Given the description of an element on the screen output the (x, y) to click on. 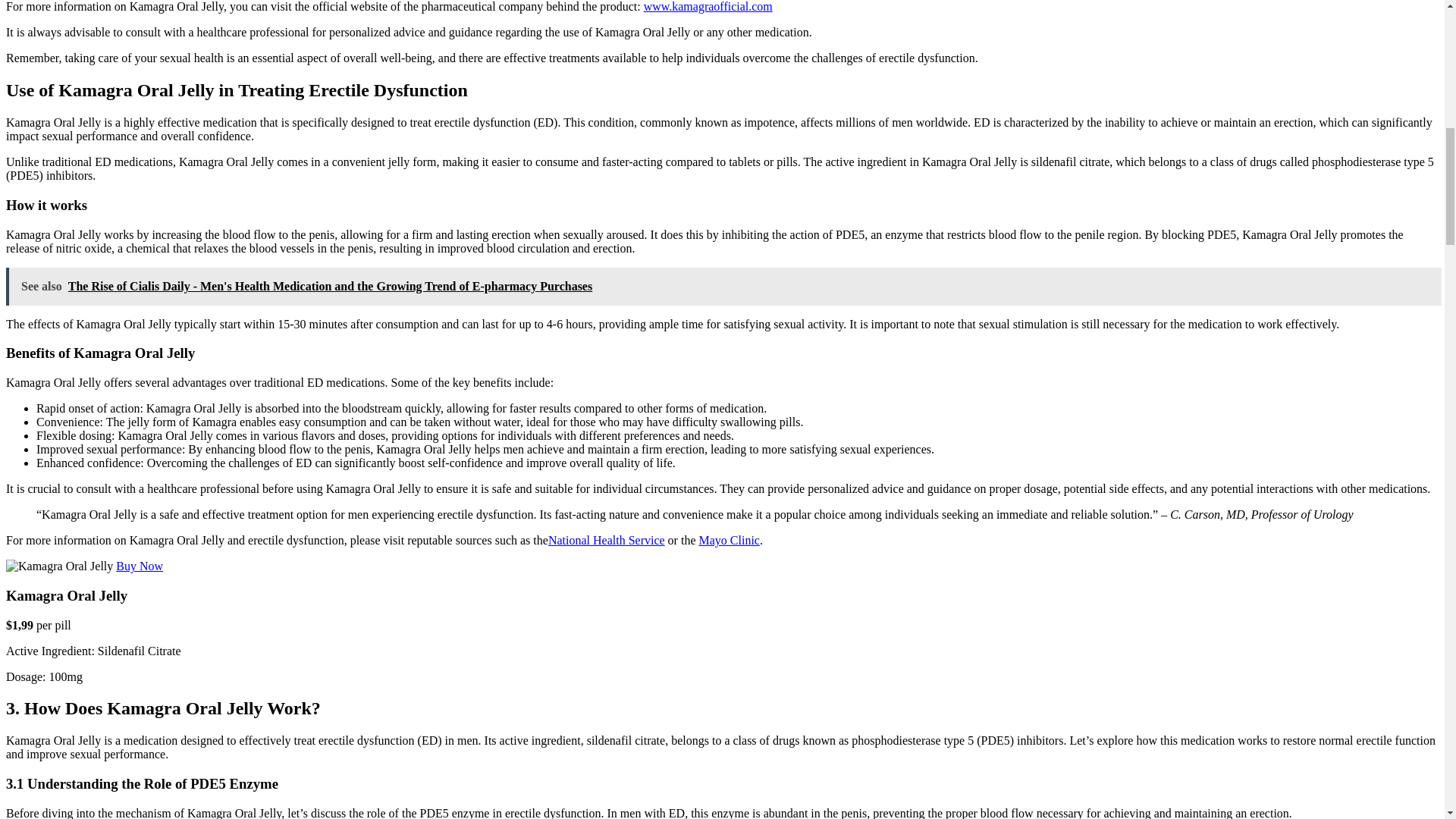
National Health Service (606, 540)
Buy Now (139, 565)
www.kamagraofficial.com (708, 6)
Buy Now (139, 565)
Mayo Clinic (728, 540)
